Given the description of an element on the screen output the (x, y) to click on. 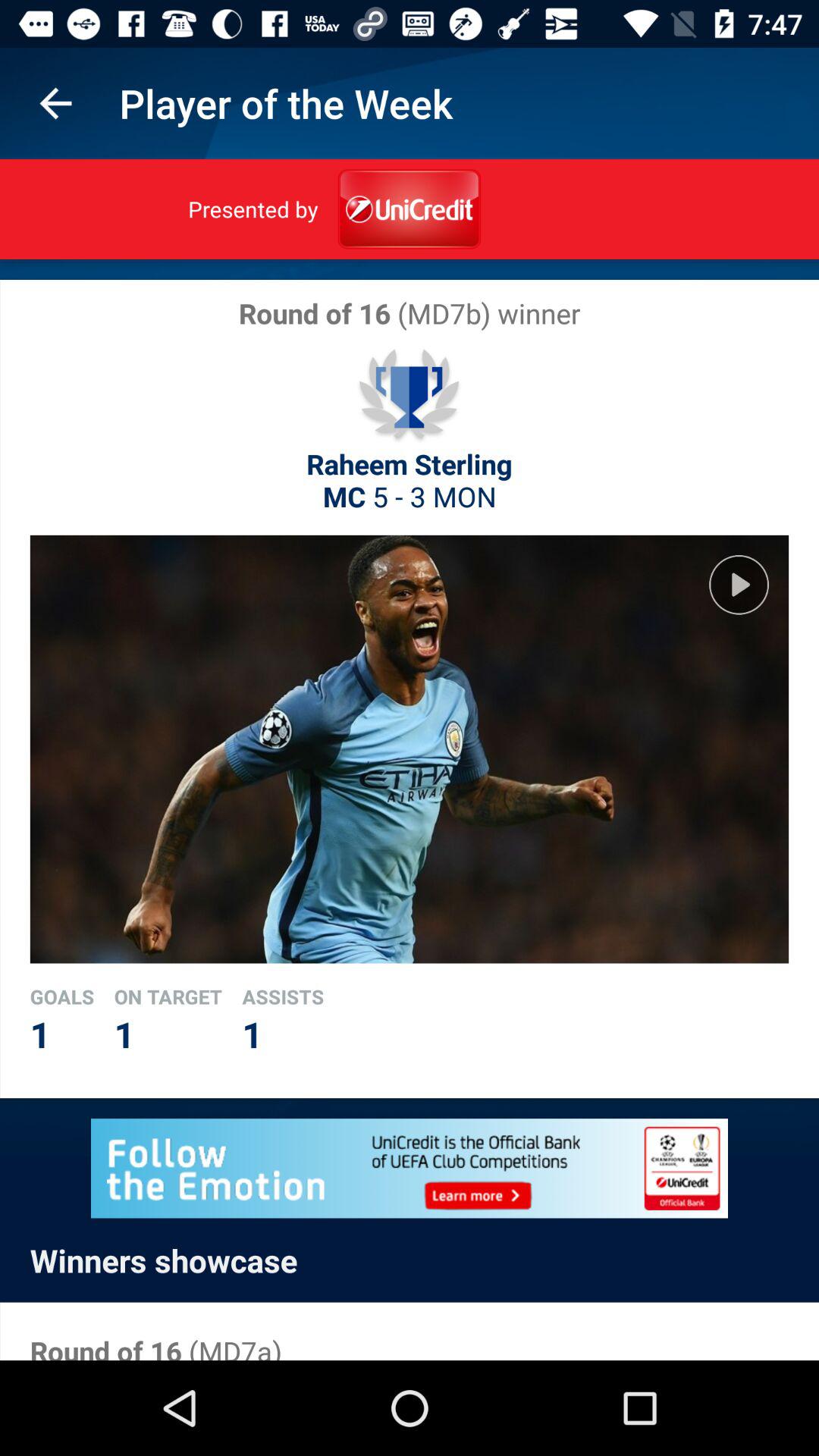
click on the play button to the top right in the image (739, 584)
